Given the description of an element on the screen output the (x, y) to click on. 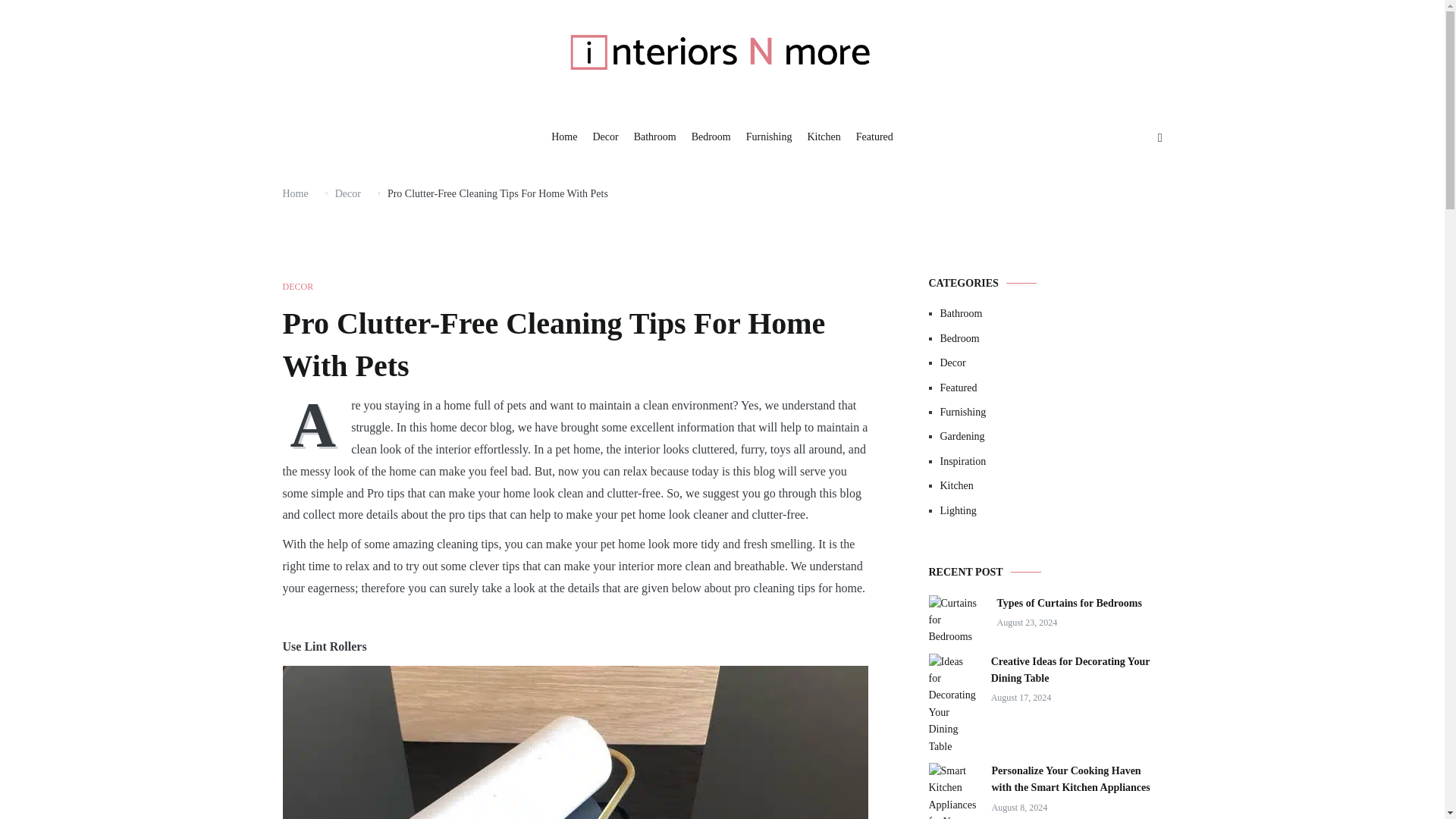
A (316, 423)
Furnishing (768, 137)
Featured (874, 137)
DECOR (297, 287)
Bedroom (710, 137)
Furnishing (1050, 412)
Kitchen (823, 137)
Bathroom (1050, 313)
Decor (1050, 362)
Decor (347, 193)
